Given the description of an element on the screen output the (x, y) to click on. 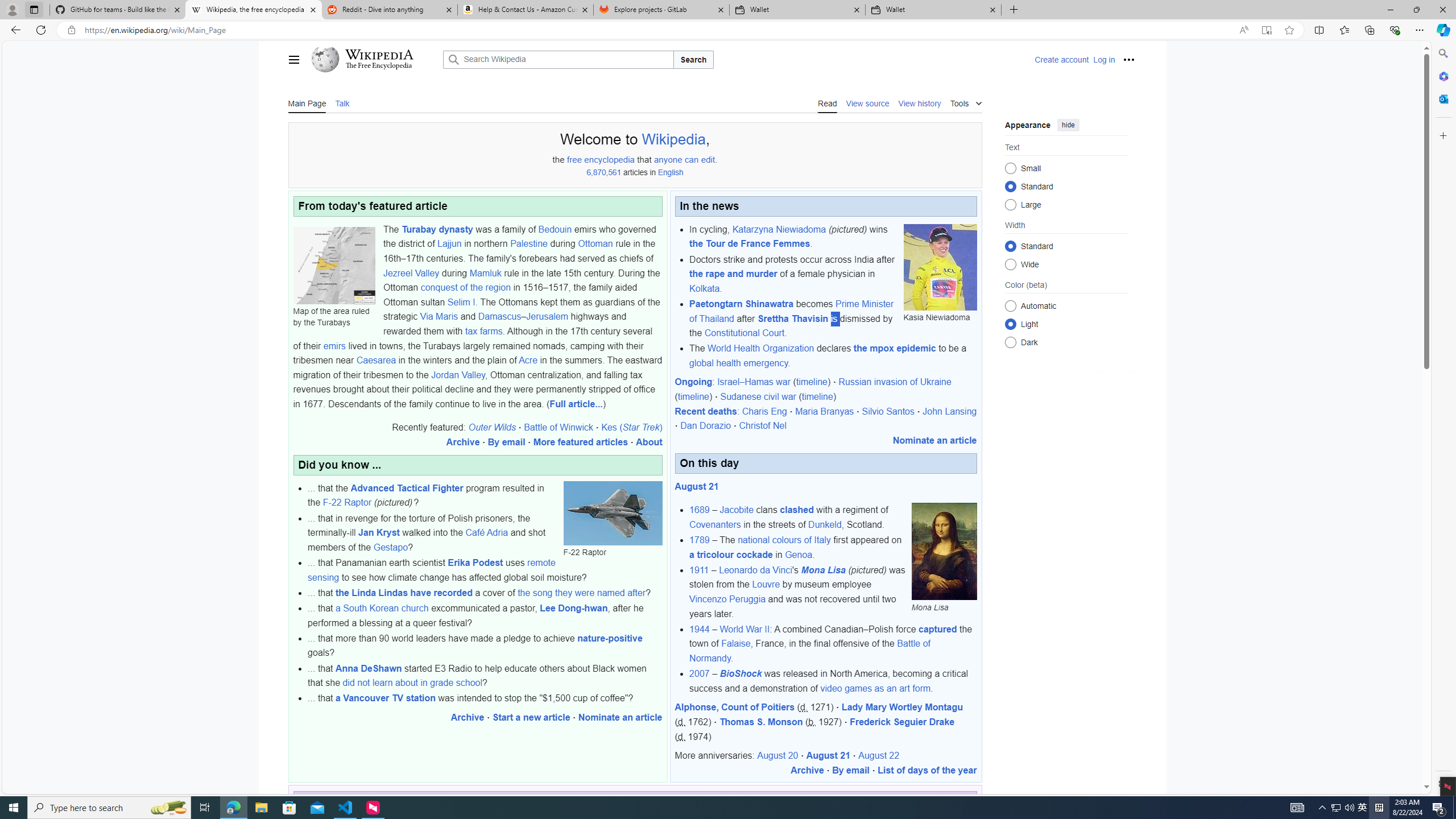
Kolkata (704, 288)
Jordan Valley (457, 374)
Prime Minister of Thailand (790, 310)
Alphonse, Count of Poitiers (734, 707)
Main Page (307, 102)
Erika Podest (474, 562)
Acre (528, 360)
Bedouin (555, 229)
Lee Dong-hwan (574, 608)
